Given the description of an element on the screen output the (x, y) to click on. 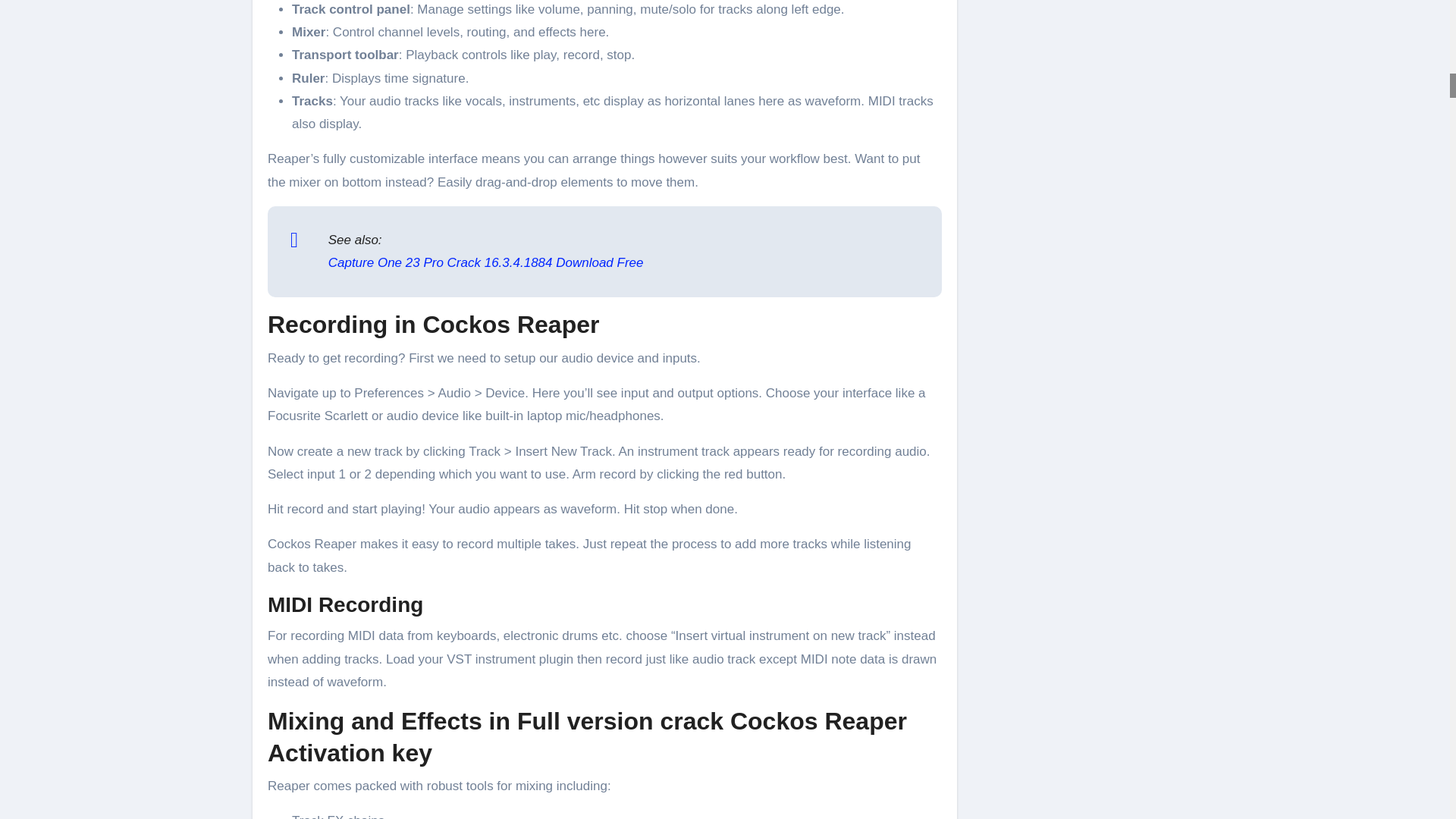
Capture One 23 Pro Crack 16.3.4.1884 Download Free (486, 262)
